Given the description of an element on the screen output the (x, y) to click on. 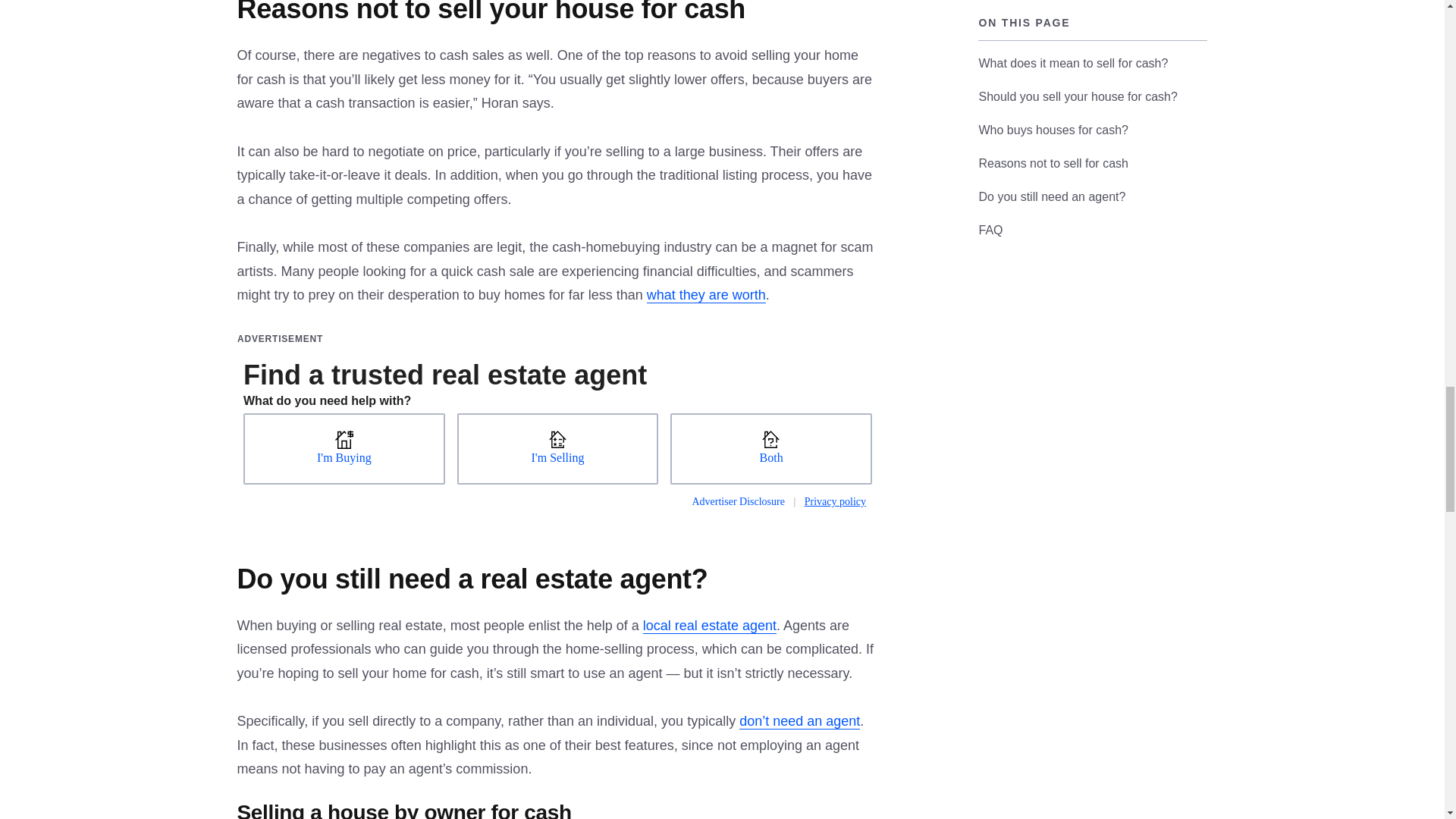
Advertisement (556, 425)
